Given the description of an element on the screen output the (x, y) to click on. 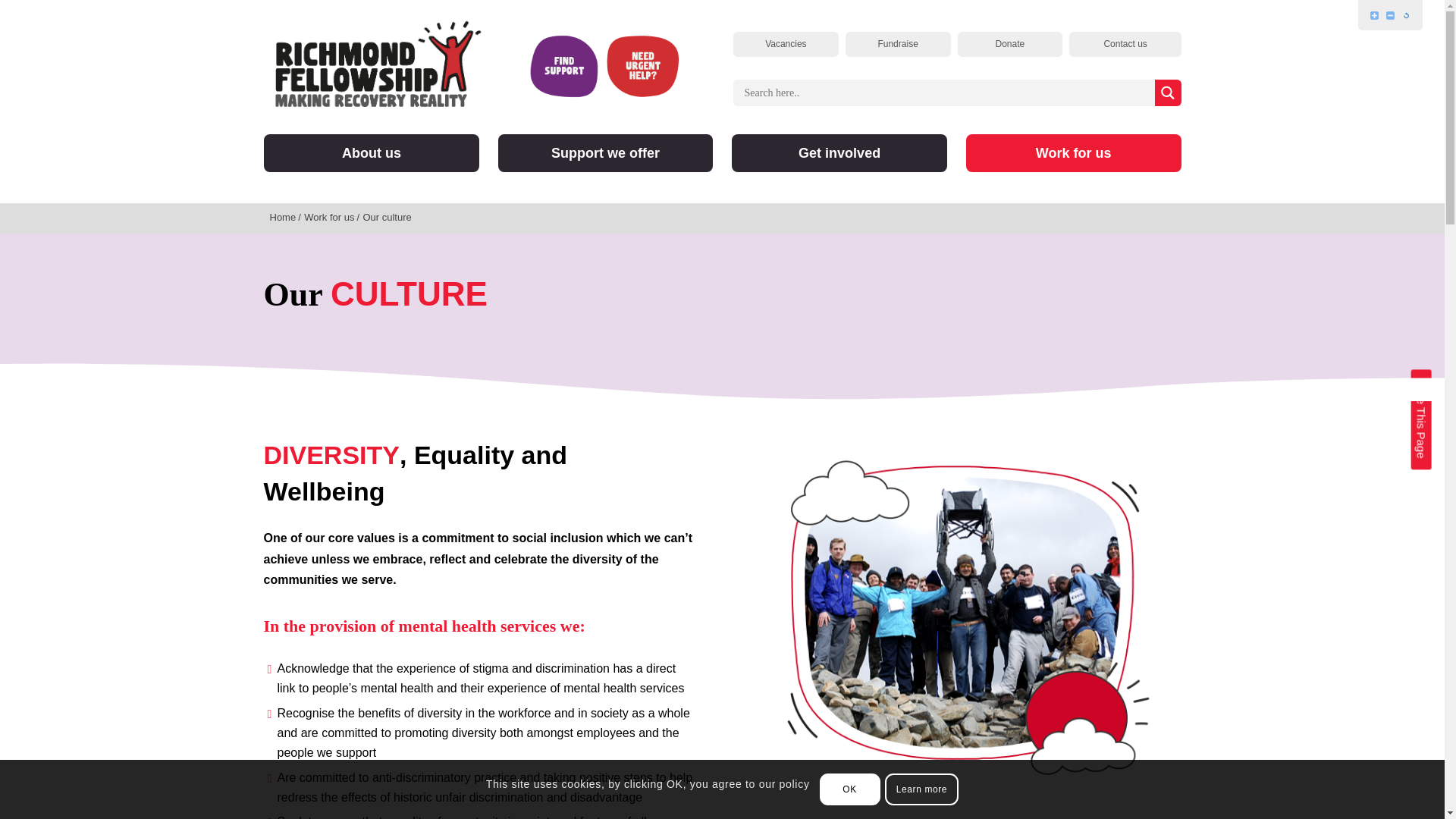
About us (371, 152)
Support we offer (605, 152)
Fundraise (897, 43)
Richmond Fellowship (378, 62)
Work for us (330, 216)
Get involved (839, 152)
Contact us (1124, 43)
Vacancies (785, 43)
Work for us (1073, 152)
Donate (1009, 43)
